Given the description of an element on the screen output the (x, y) to click on. 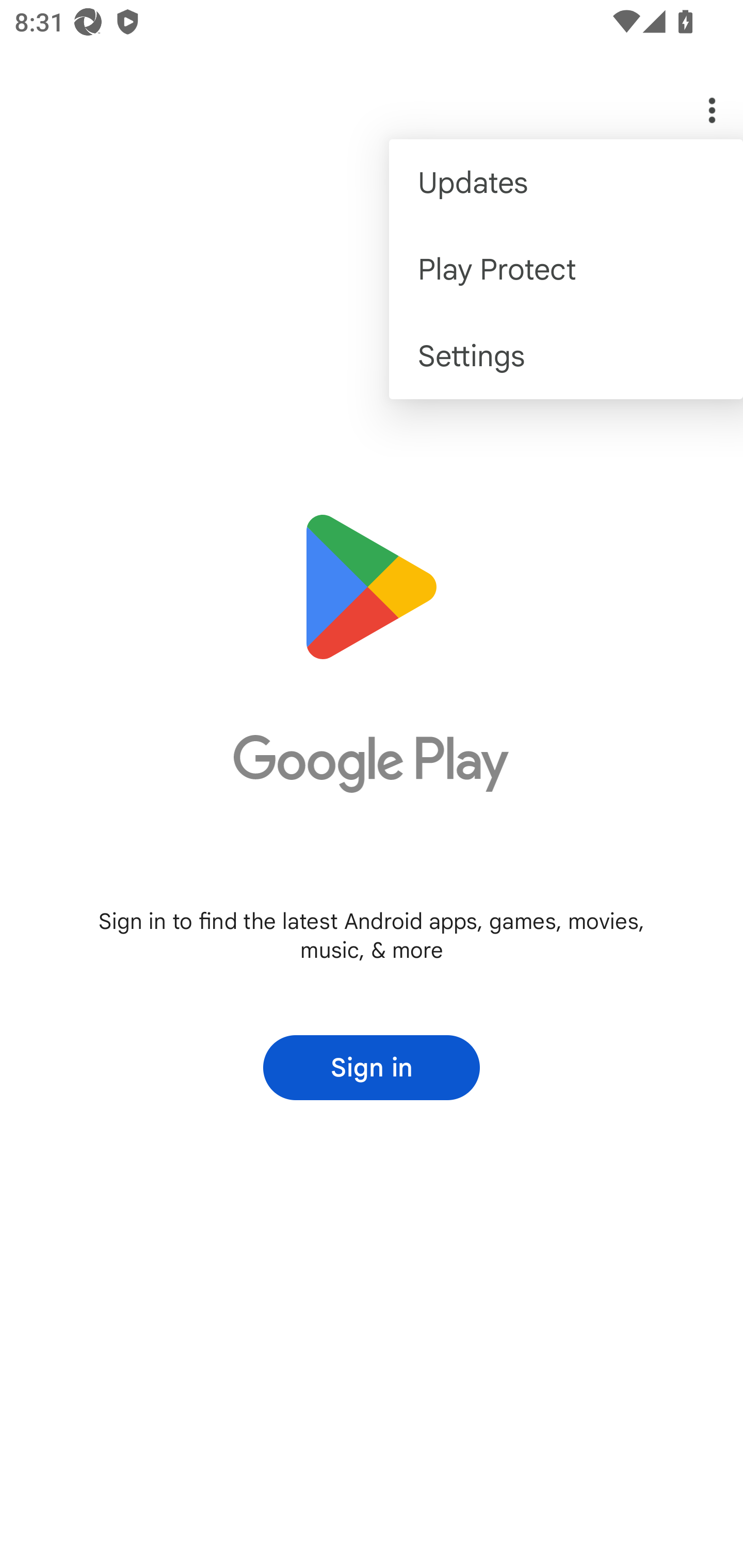
Updates (566, 182)
Play Protect (566, 268)
Settings (566, 355)
